Given the description of an element on the screen output the (x, y) to click on. 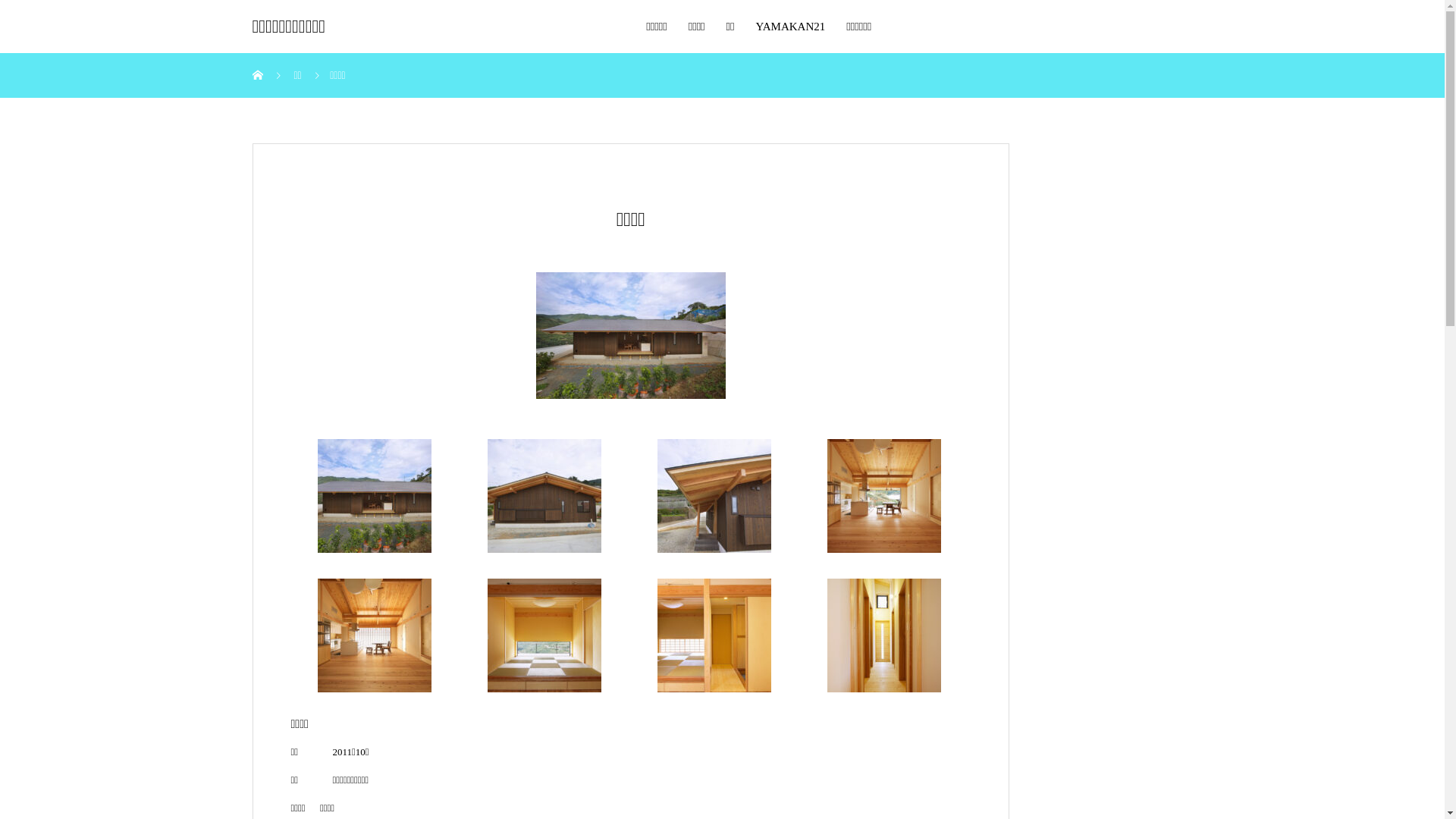
YAMAKAN21 Element type: text (790, 26)
